Given the description of an element on the screen output the (x, y) to click on. 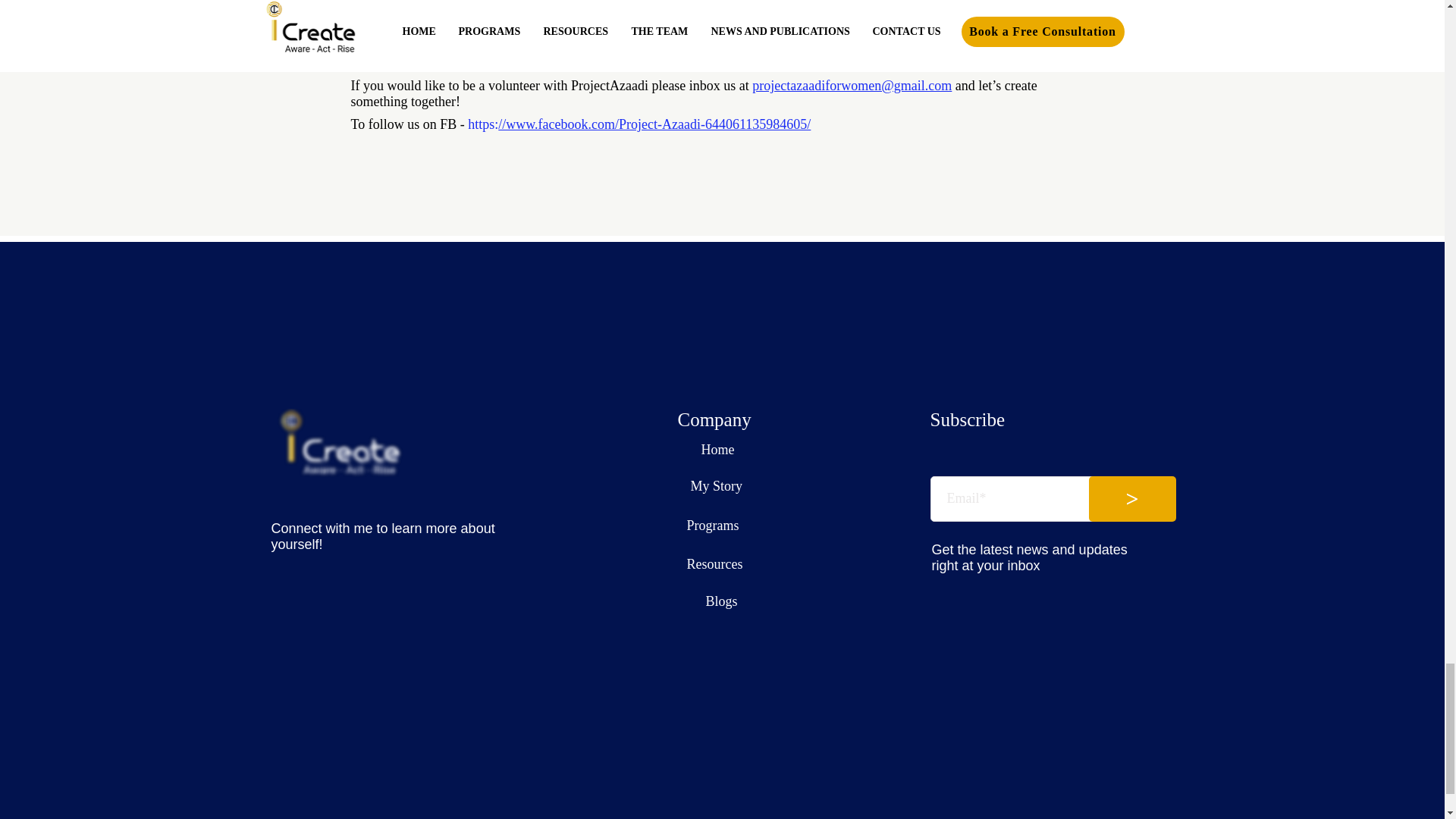
Home (716, 449)
Blogs (720, 601)
My Story (716, 485)
WhatsApp Image 2024-02-06 at 17.40.20.jp (928, 27)
